Given the description of an element on the screen output the (x, y) to click on. 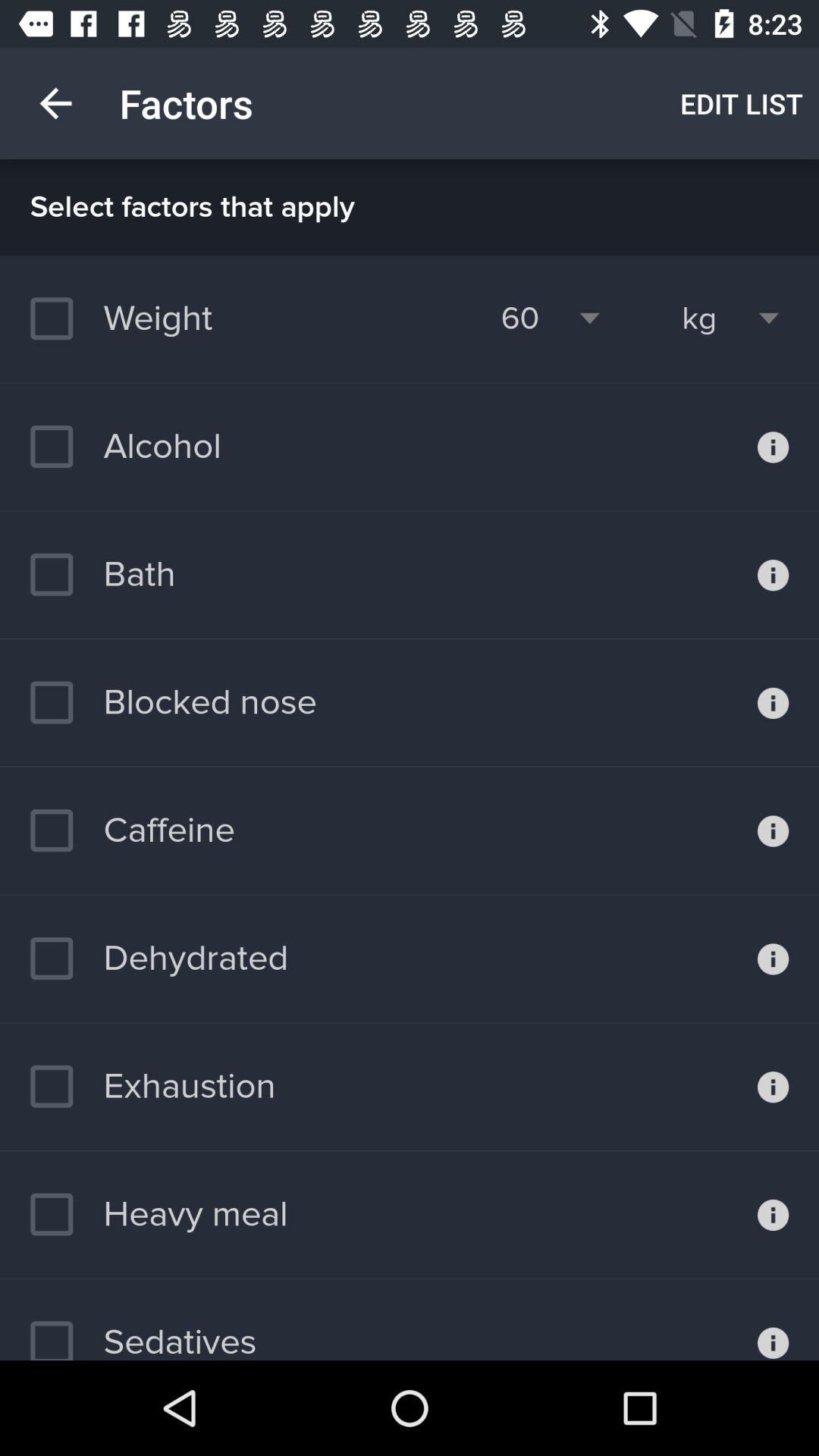
turn on heavy meal icon (158, 1214)
